Given the description of an element on the screen output the (x, y) to click on. 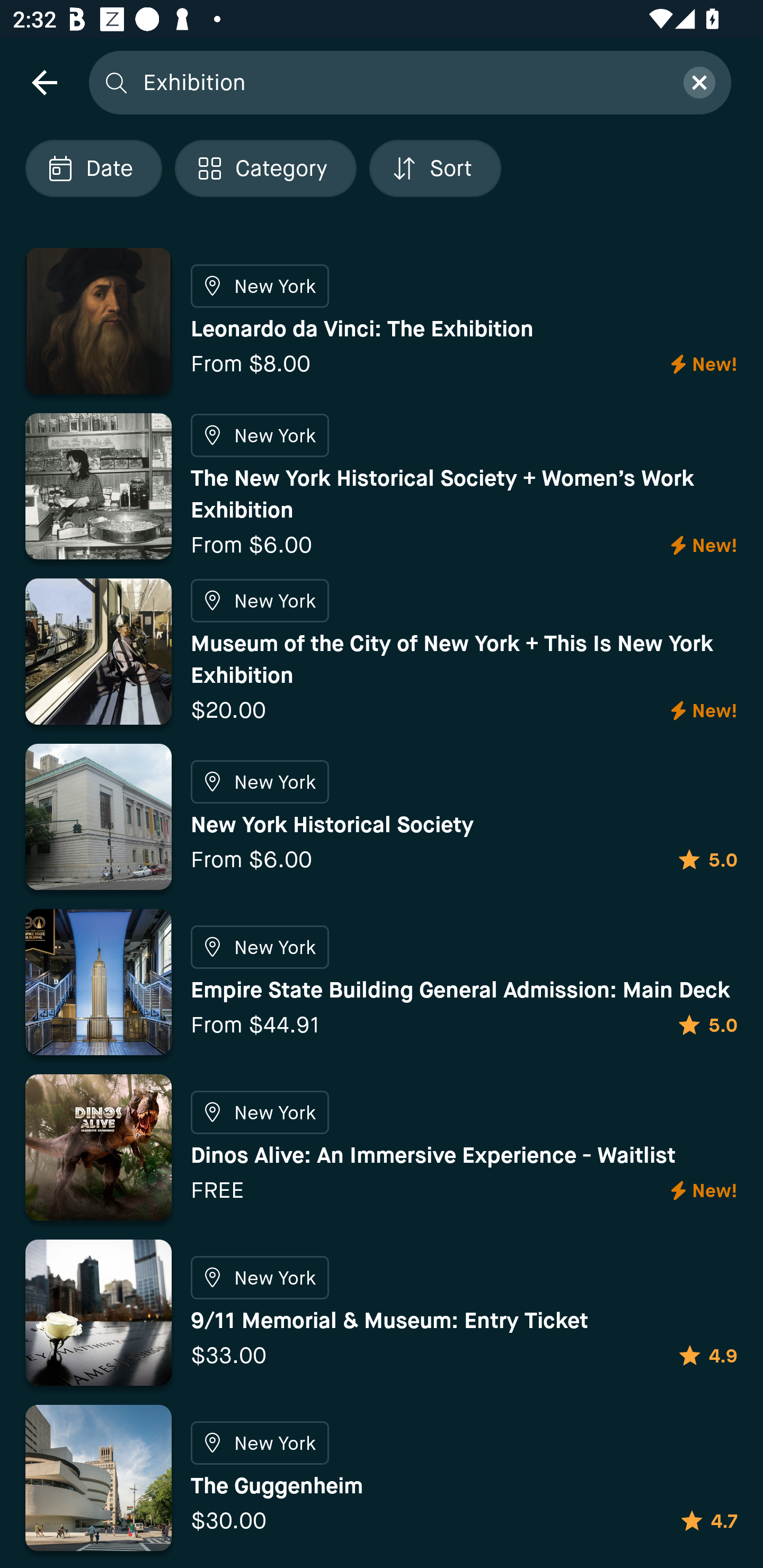
navigation icon (44, 81)
Exhibition (402, 81)
Localized description Date (93, 168)
Localized description Category (265, 168)
Localized description Sort (435, 168)
